Given the description of an element on the screen output the (x, y) to click on. 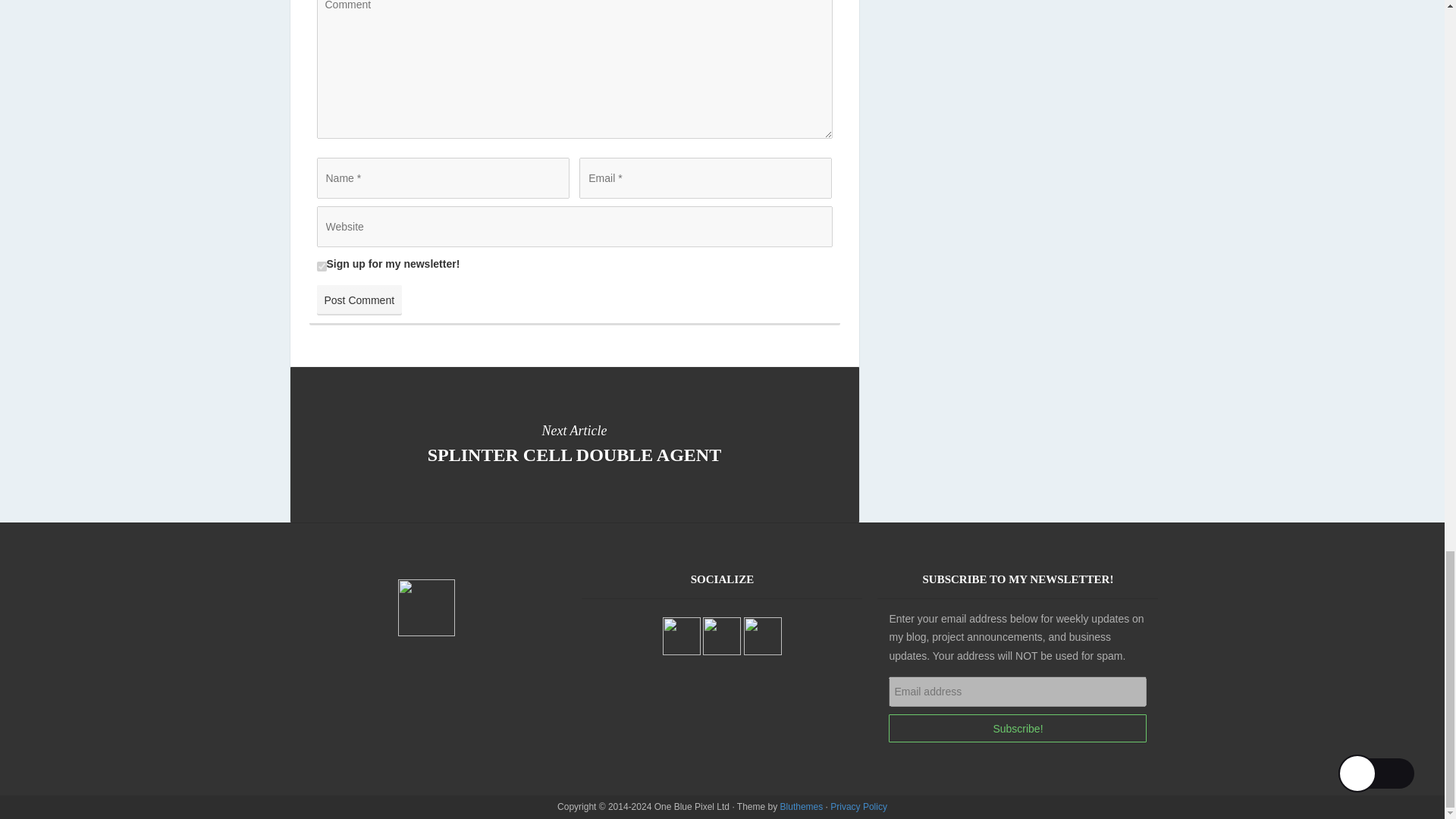
Bluthemes (802, 806)
1 (574, 443)
Privacy Policy (321, 266)
Subscribe! (857, 806)
Post Comment (1017, 728)
Post Comment (360, 300)
